Given the description of an element on the screen output the (x, y) to click on. 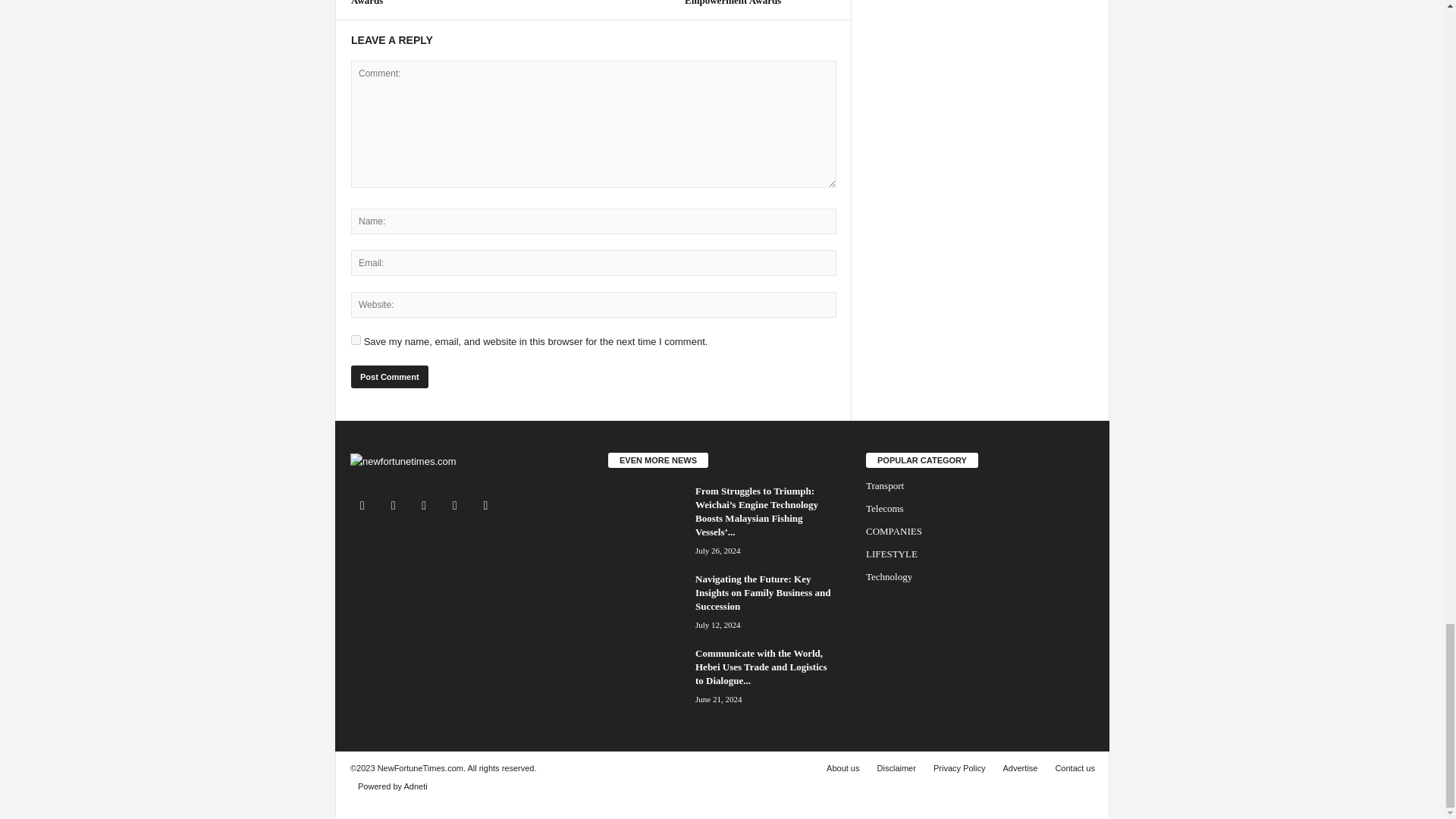
Post Comment (389, 376)
yes (355, 339)
